Given the description of an element on the screen output the (x, y) to click on. 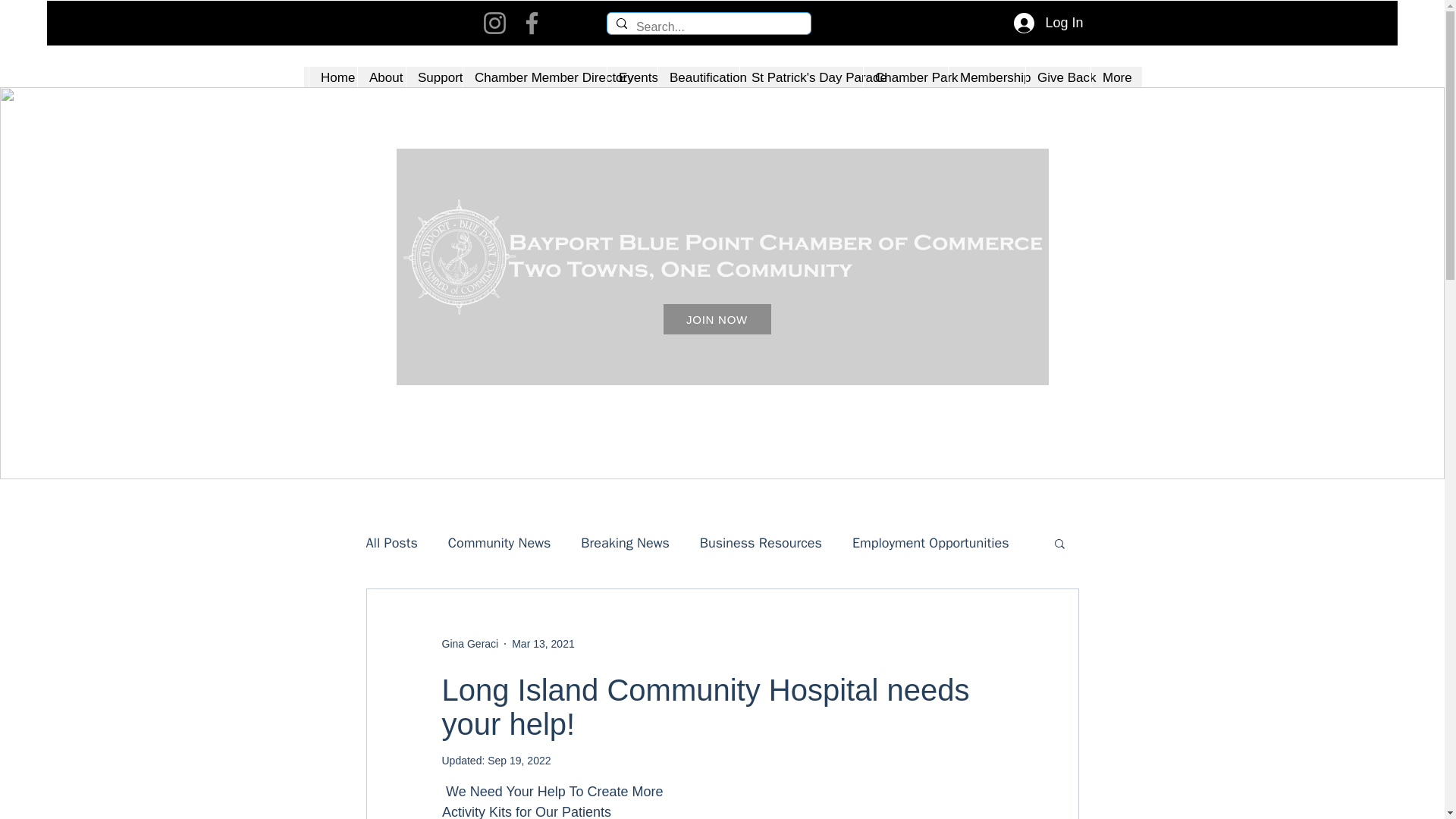
Gina Geraci (469, 643)
Home (332, 77)
Business Resources (761, 542)
All Posts (390, 542)
Community News (499, 542)
Mar 13, 2021 (543, 643)
Support (434, 77)
Chamber Member Directory (535, 77)
JOIN NOW (716, 318)
About (381, 77)
Beautification (698, 77)
Log In (1048, 22)
Breaking News (624, 542)
Employment Opportunities (930, 542)
Gina Geraci (469, 643)
